Given the description of an element on the screen output the (x, y) to click on. 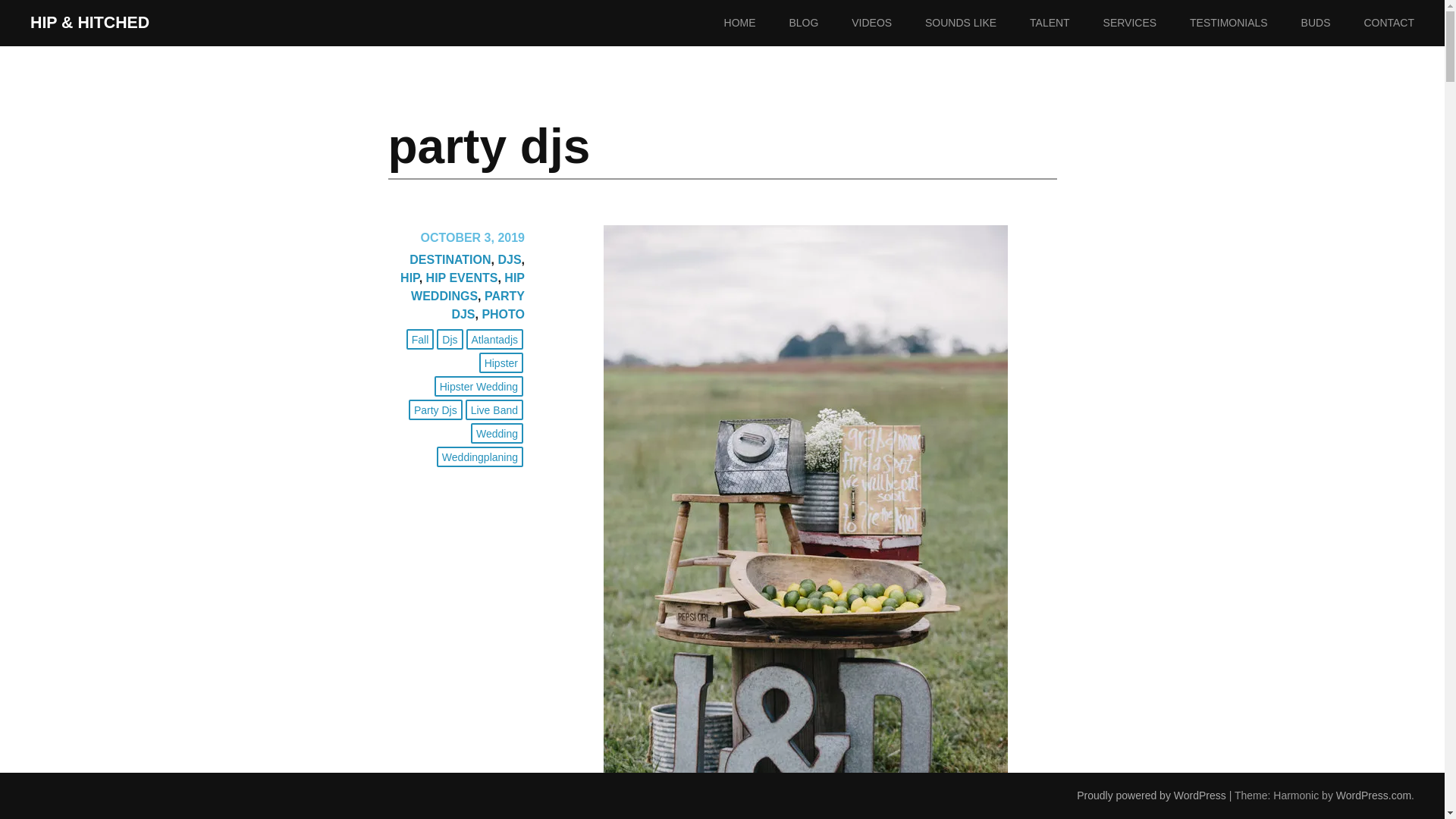
OCTOBER 3, 2019 (472, 237)
HIP EVENTS (461, 277)
PHOTO (502, 314)
Fall (419, 339)
BUDS (1331, 22)
PARTY DJS (487, 305)
HOME (754, 22)
Hipster Wedding (477, 385)
Djs (449, 339)
TALENT (1064, 22)
